Given the description of an element on the screen output the (x, y) to click on. 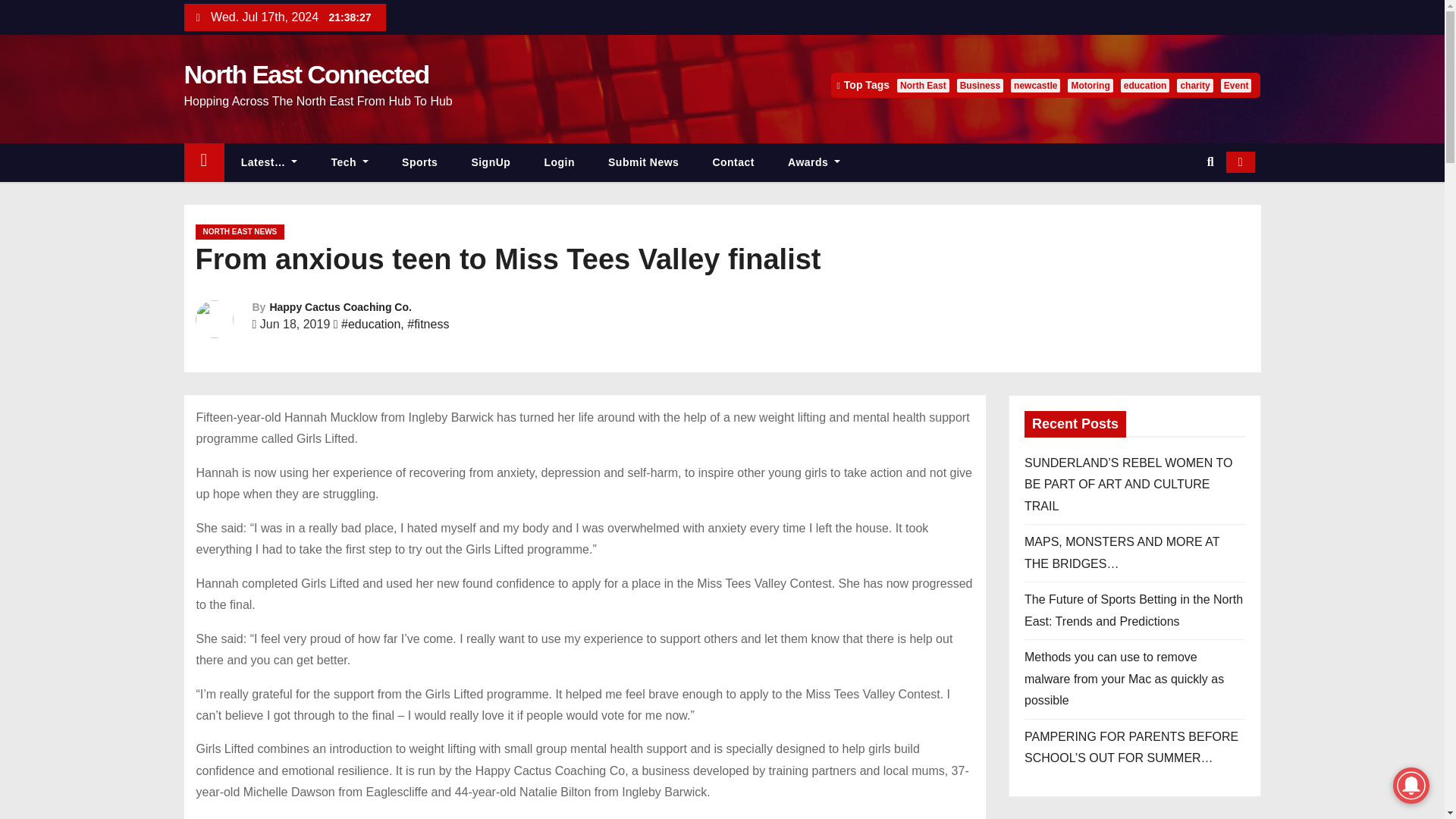
SignUp (490, 162)
Submit News (643, 162)
Contact (733, 162)
Awards (814, 162)
charity (1194, 85)
Tech (349, 162)
Submit News (643, 162)
North East (922, 85)
Happy Cactus Coaching Co. (339, 306)
Motoring (1089, 85)
Business (979, 85)
SignUp (490, 162)
Sports (419, 162)
Home (203, 162)
Login (559, 162)
